Given the description of an element on the screen output the (x, y) to click on. 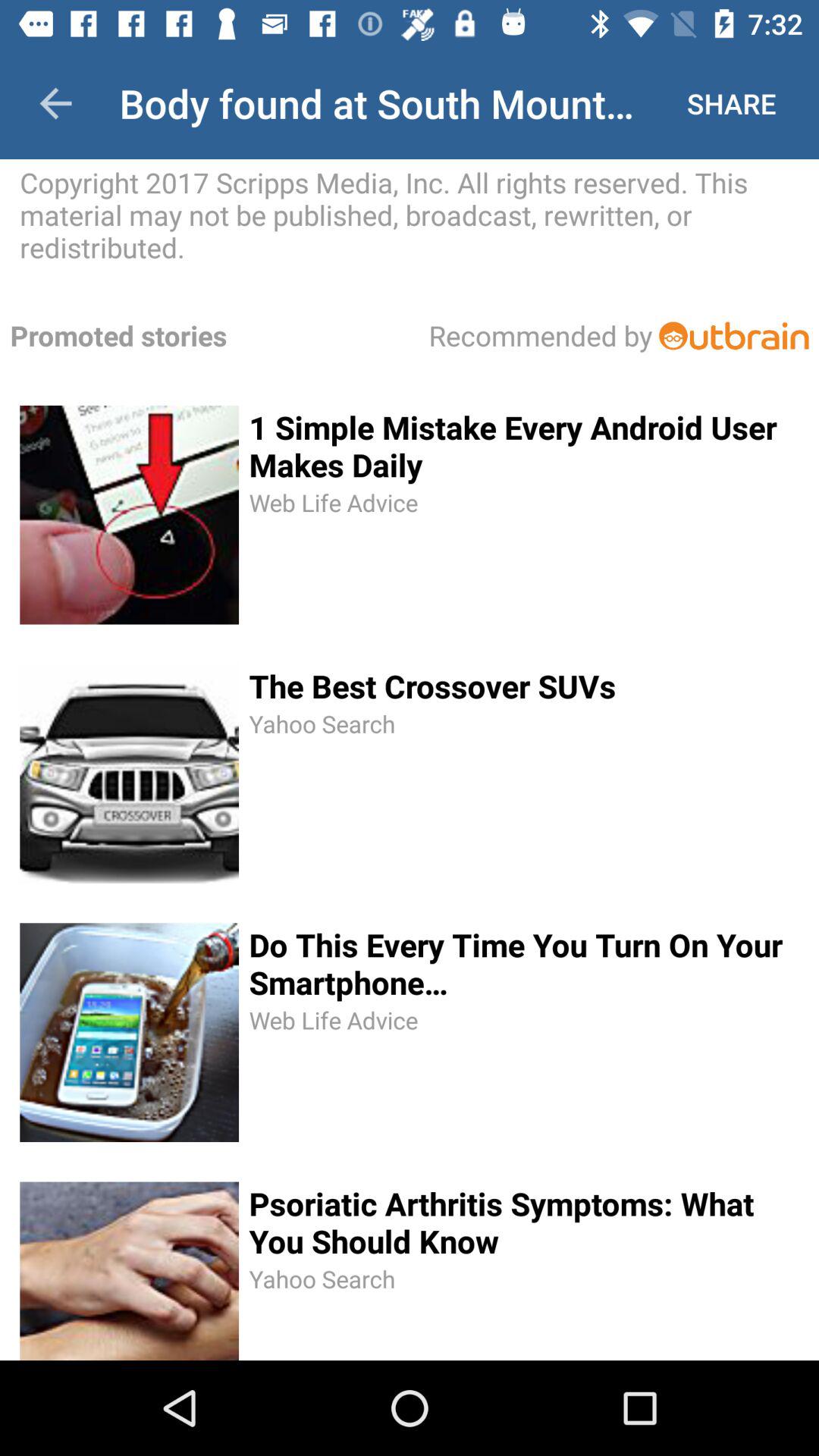
open icon to the left of body found at icon (55, 103)
